Given the description of an element on the screen output the (x, y) to click on. 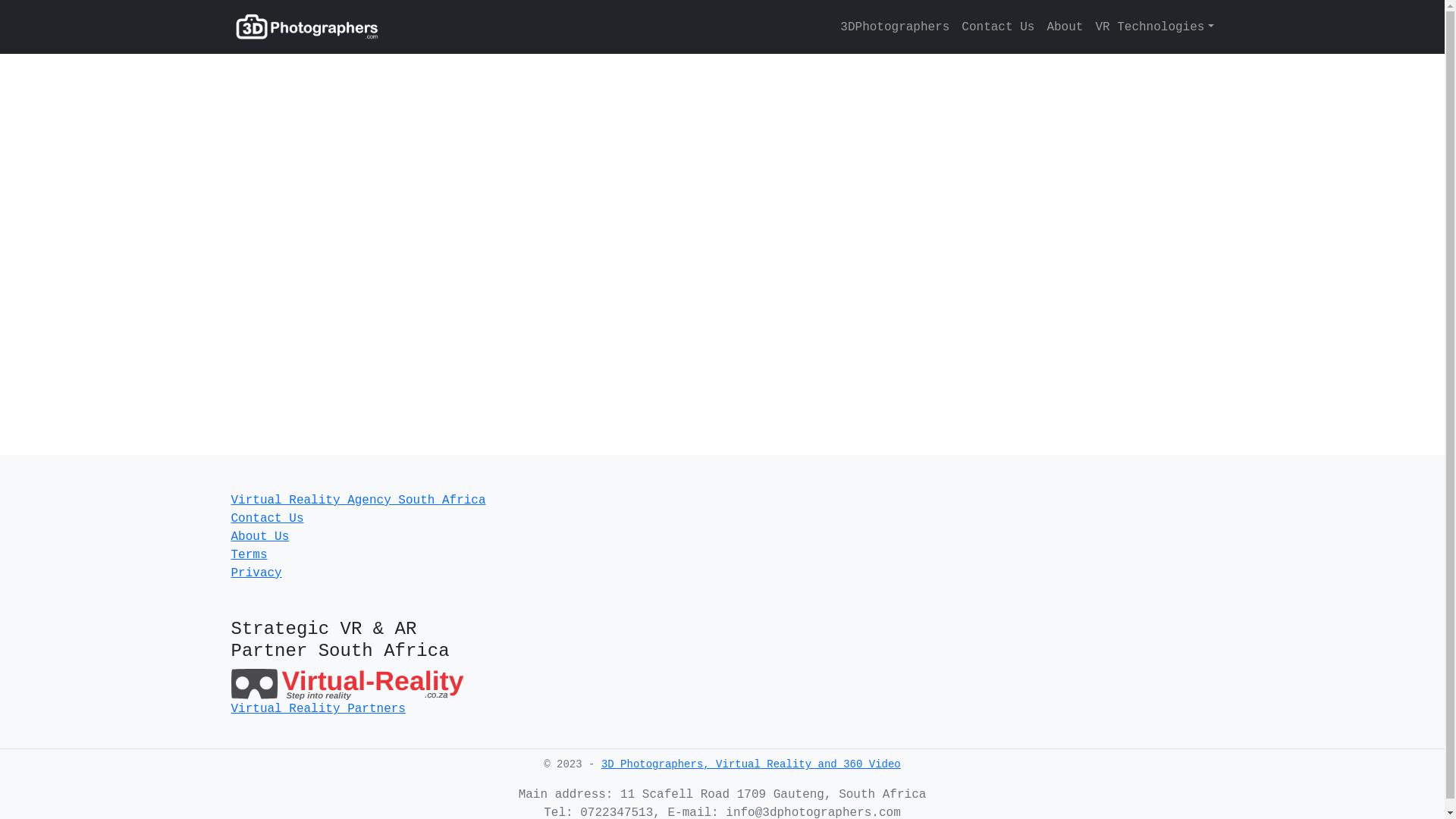
Contact Us Element type: text (997, 27)
Privacy Element type: text (255, 573)
Contact Us Element type: text (266, 518)
About Us Element type: text (259, 536)
3DPhotographers Element type: text (894, 27)
Virtual Reality Partners Element type: text (317, 708)
Virtual Reality Agency South Africa Element type: text (357, 500)
VR Technologies Element type: text (1150, 27)
About Element type: text (1064, 27)
3D Photographers, Virtual Reality and 360 Video Element type: text (750, 764)
Terms Element type: text (248, 554)
